Given the description of an element on the screen output the (x, y) to click on. 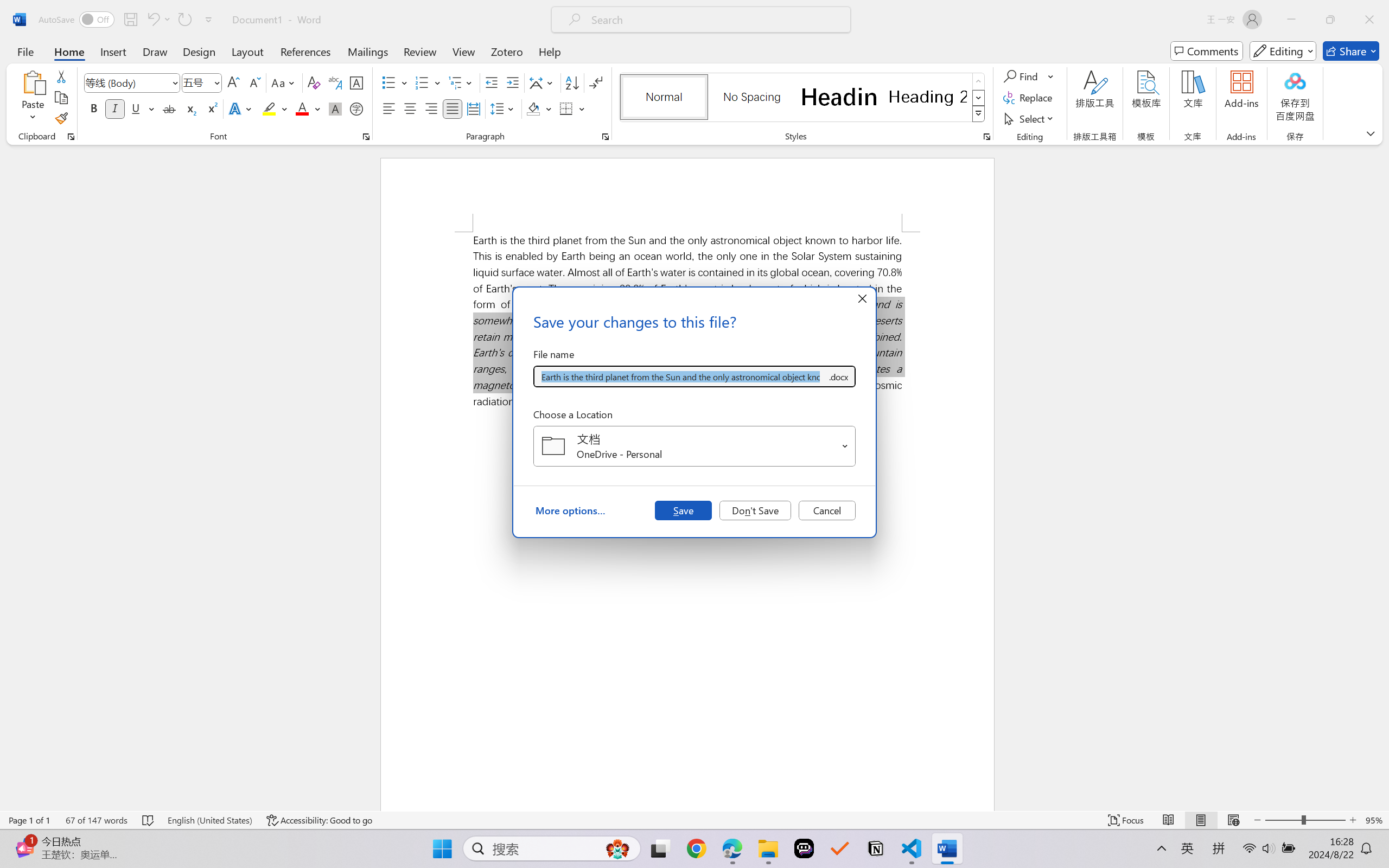
Row Down (978, 97)
Decrease Indent (491, 82)
Grow Font (233, 82)
Distributed (473, 108)
Heading 1 (839, 96)
Center (409, 108)
Undo Italic (152, 19)
Poe (804, 848)
Undo Italic (158, 19)
